Given the description of an element on the screen output the (x, y) to click on. 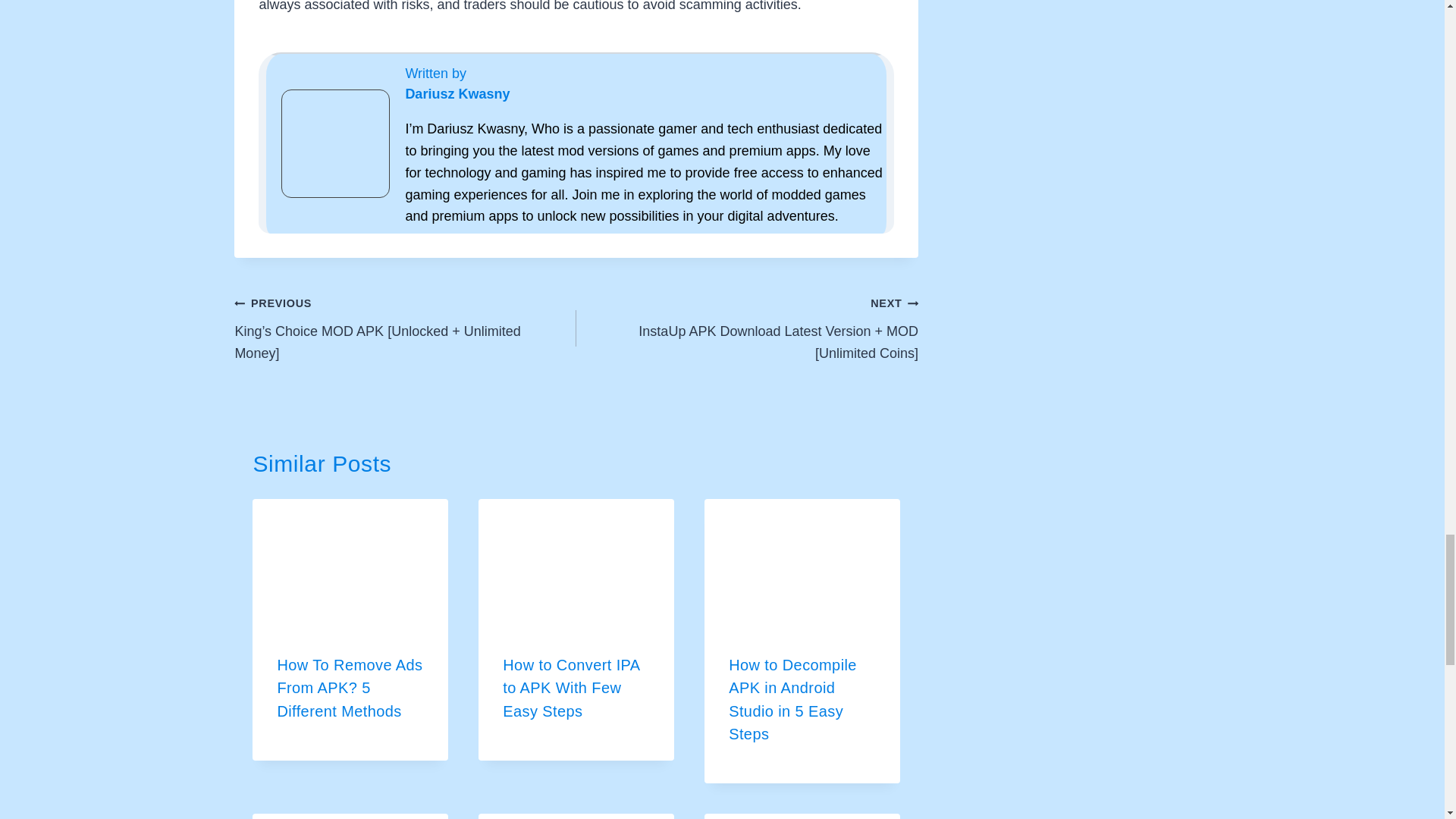
How to Decompile APK in Android Studio in 5 Easy Steps (793, 699)
How to Convert IPA to APK With Few Easy Steps (570, 687)
How To Remove Ads From APK? 5 Different Methods (349, 687)
